Given the description of an element on the screen output the (x, y) to click on. 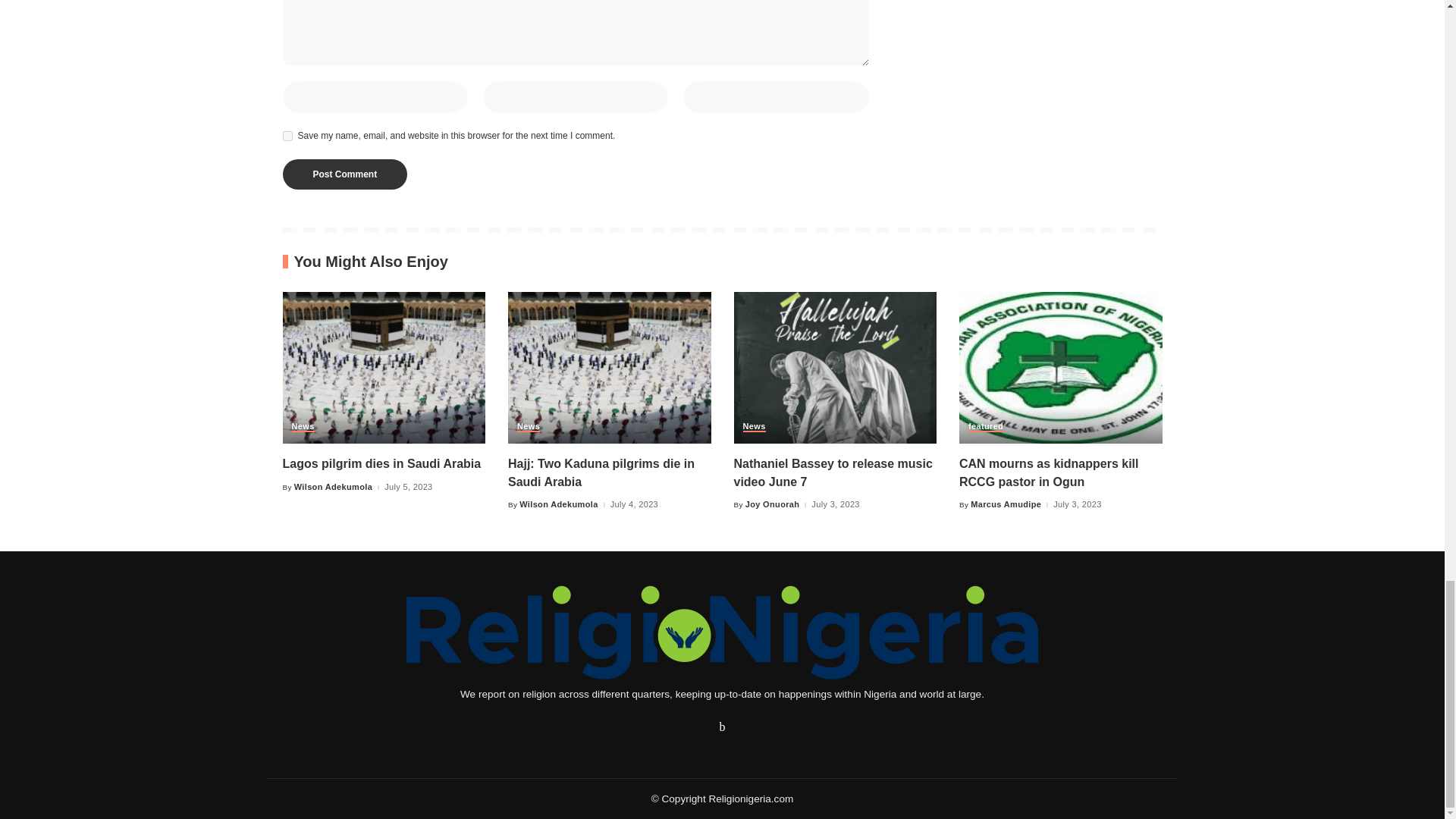
yes (287, 135)
Post Comment (344, 173)
